Given the description of an element on the screen output the (x, y) to click on. 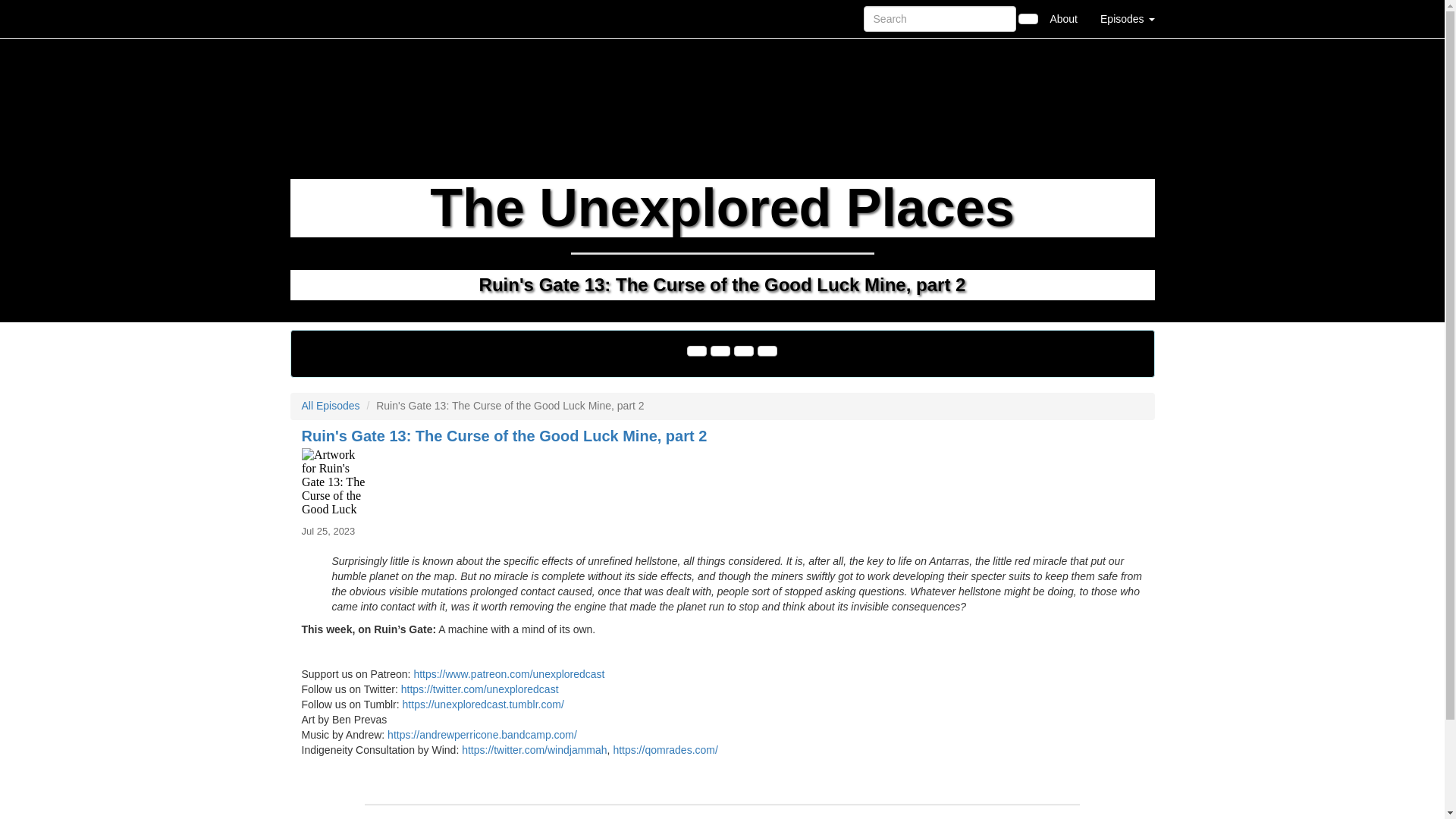
Home Page (320, 18)
Episodes (1127, 18)
About (1063, 18)
Ruin's Gate 13: The Curse of the Good Luck Mine, part 2 (721, 481)
